Given the description of an element on the screen output the (x, y) to click on. 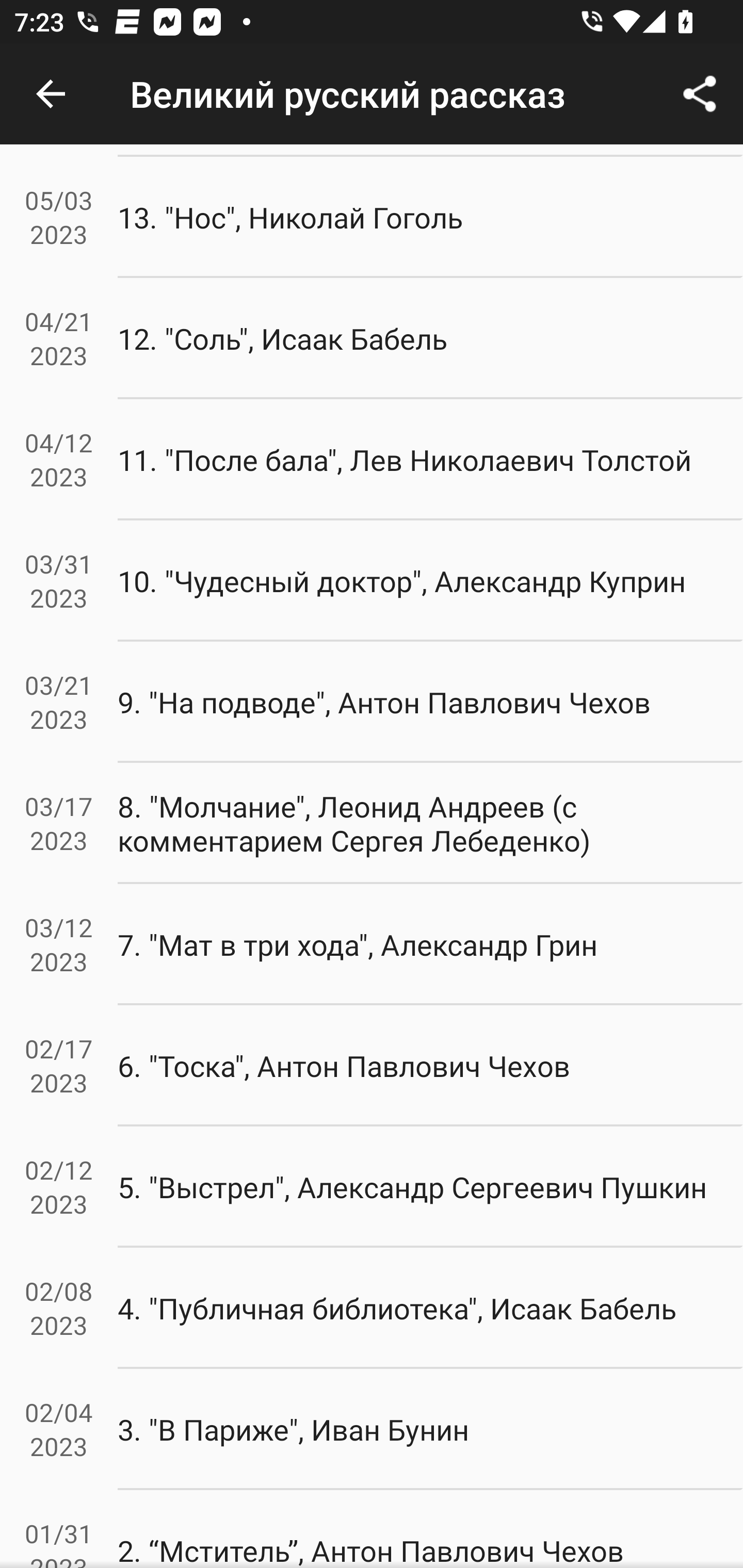
Navigate up (50, 93)
Share... (699, 93)
05/03 2023 13. "Нос", Николай Гоголь (371, 216)
04/21 2023 12. "Соль", Исаак Бабель (371, 338)
03/31 2023 10. "Чудесный доктор", Александр Куприн (371, 580)
03/21 2023 9. "На подводе", Антон Павлович Чехов (371, 702)
03/12 2023 7. "Мат в три хода", Александр Грин (371, 944)
02/17 2023 6. "Тоска", Антон Павлович Чехов (371, 1065)
02/08 2023 4. "Публичная библиотека", Исаак Бабель (371, 1308)
02/04 2023 3. "В Париже", Иван Бунин (371, 1428)
01/31 2023 2. “Мститель”, Антон Павлович Чехов (371, 1528)
